Given the description of an element on the screen output the (x, y) to click on. 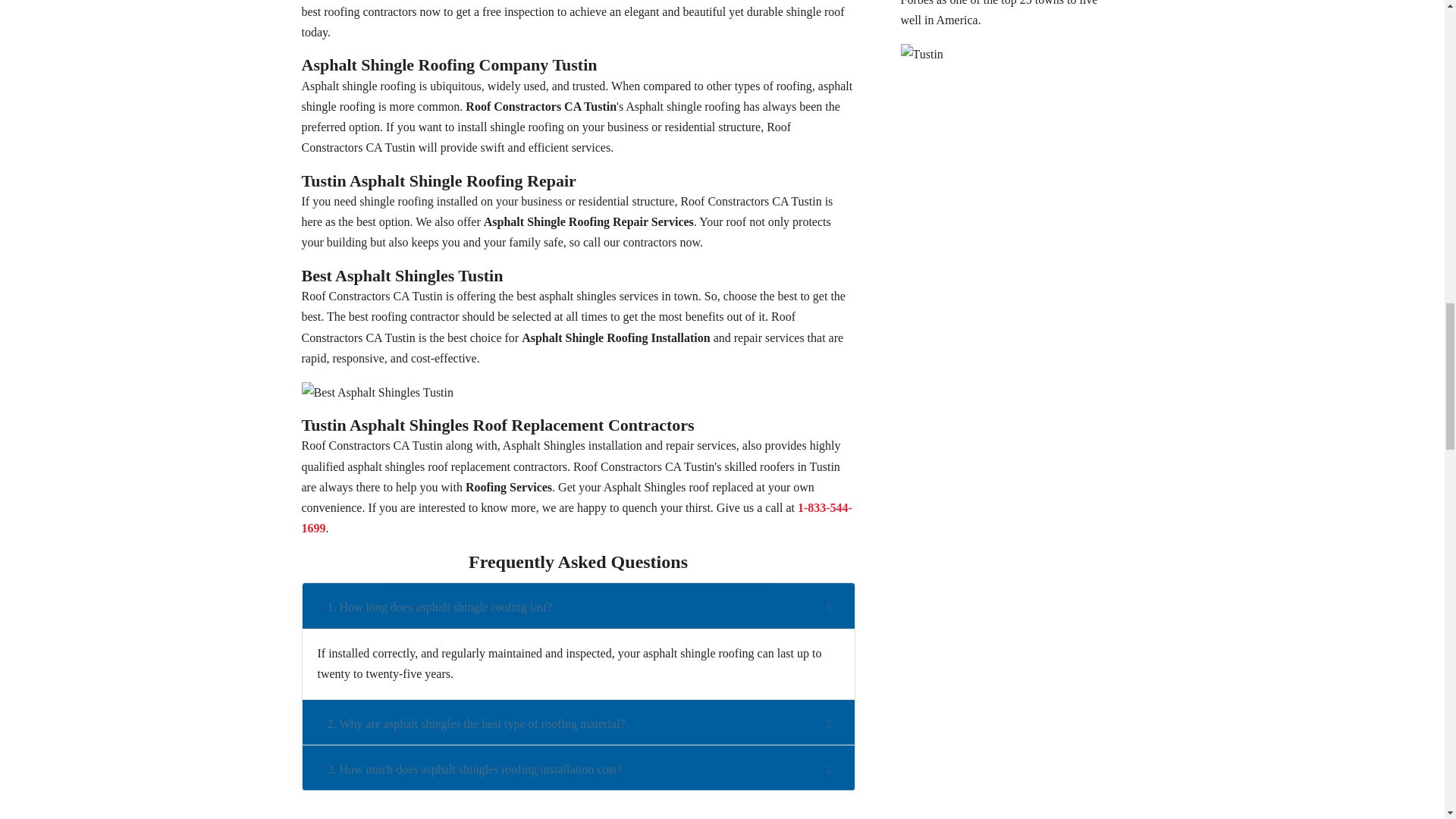
1-833-544-1699 (576, 517)
1. How long does asphalt shingle roofing last? (439, 606)
3. How much does asphalt shingles roofing installation cost? (474, 769)
